Given the description of an element on the screen output the (x, y) to click on. 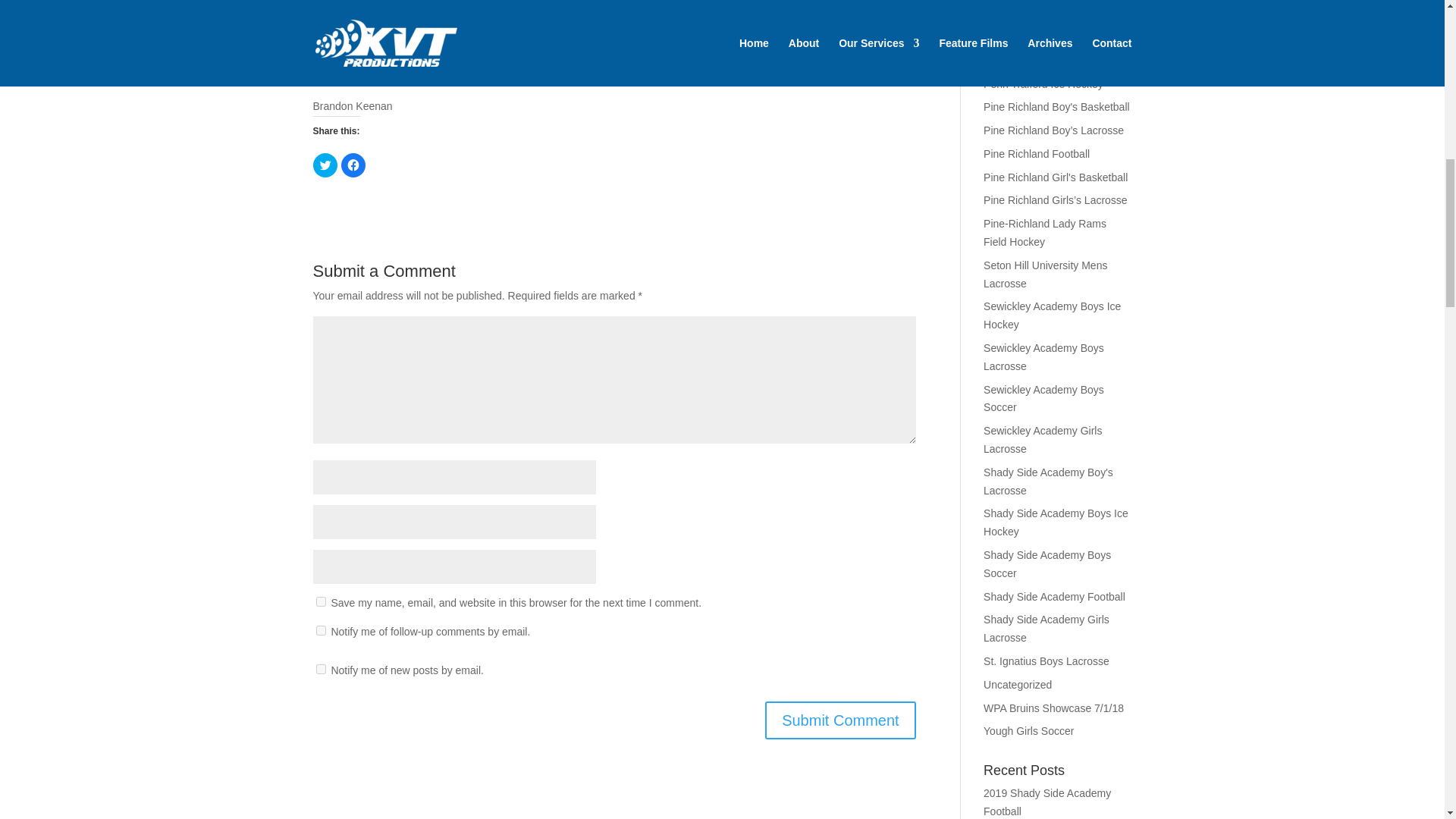
subscribe (319, 669)
yes (319, 601)
Submit Comment (840, 720)
Click to share on Twitter (324, 165)
subscribe (319, 629)
Click to share on Facebook (352, 165)
Submit Comment (840, 720)
